Given the description of an element on the screen output the (x, y) to click on. 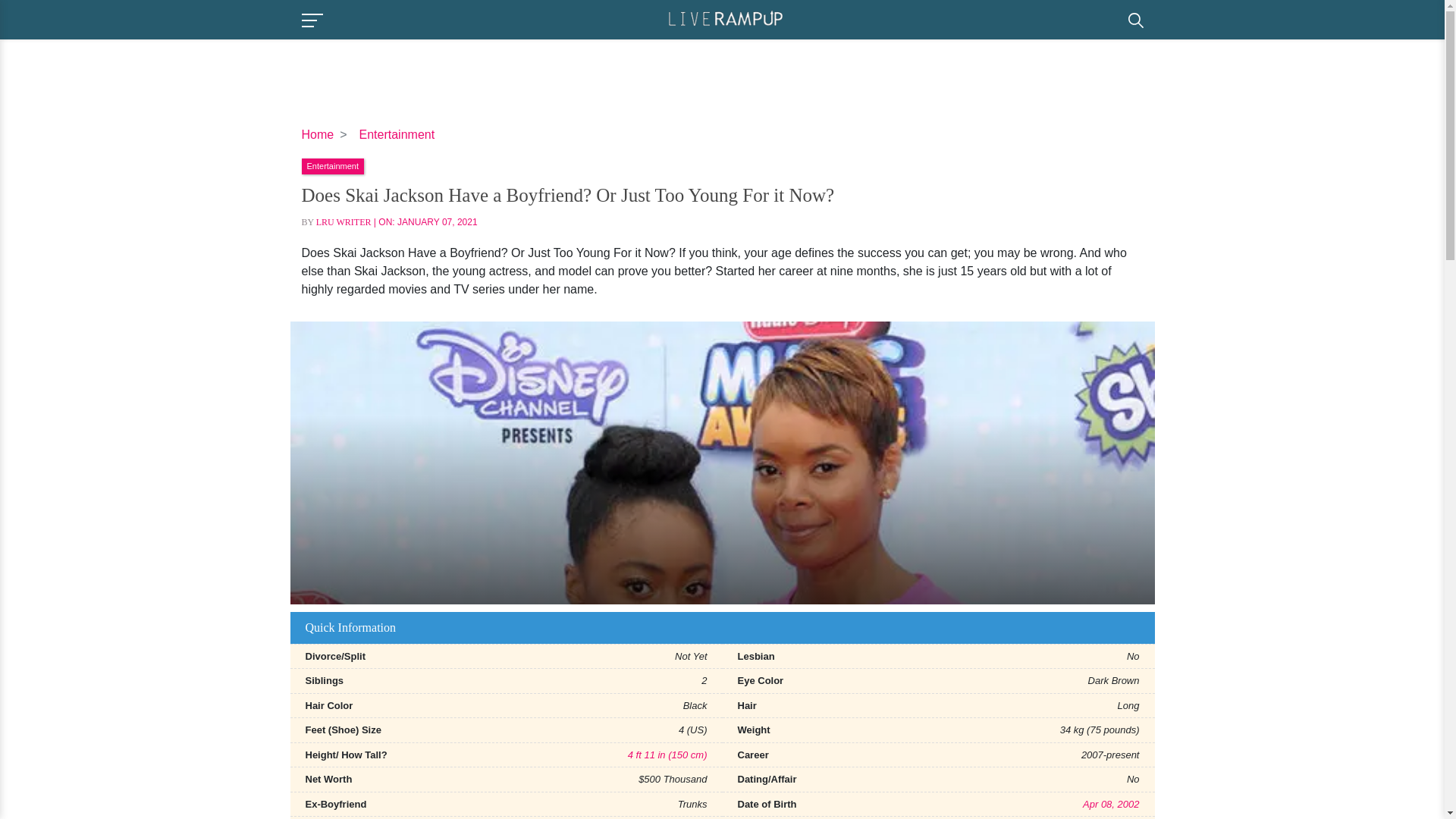
Entertainment (332, 164)
LRU WRITER (343, 222)
Liverampup (725, 17)
Apr 08, 2002 (1110, 803)
Entertainment (397, 133)
Home (317, 133)
